Given the description of an element on the screen output the (x, y) to click on. 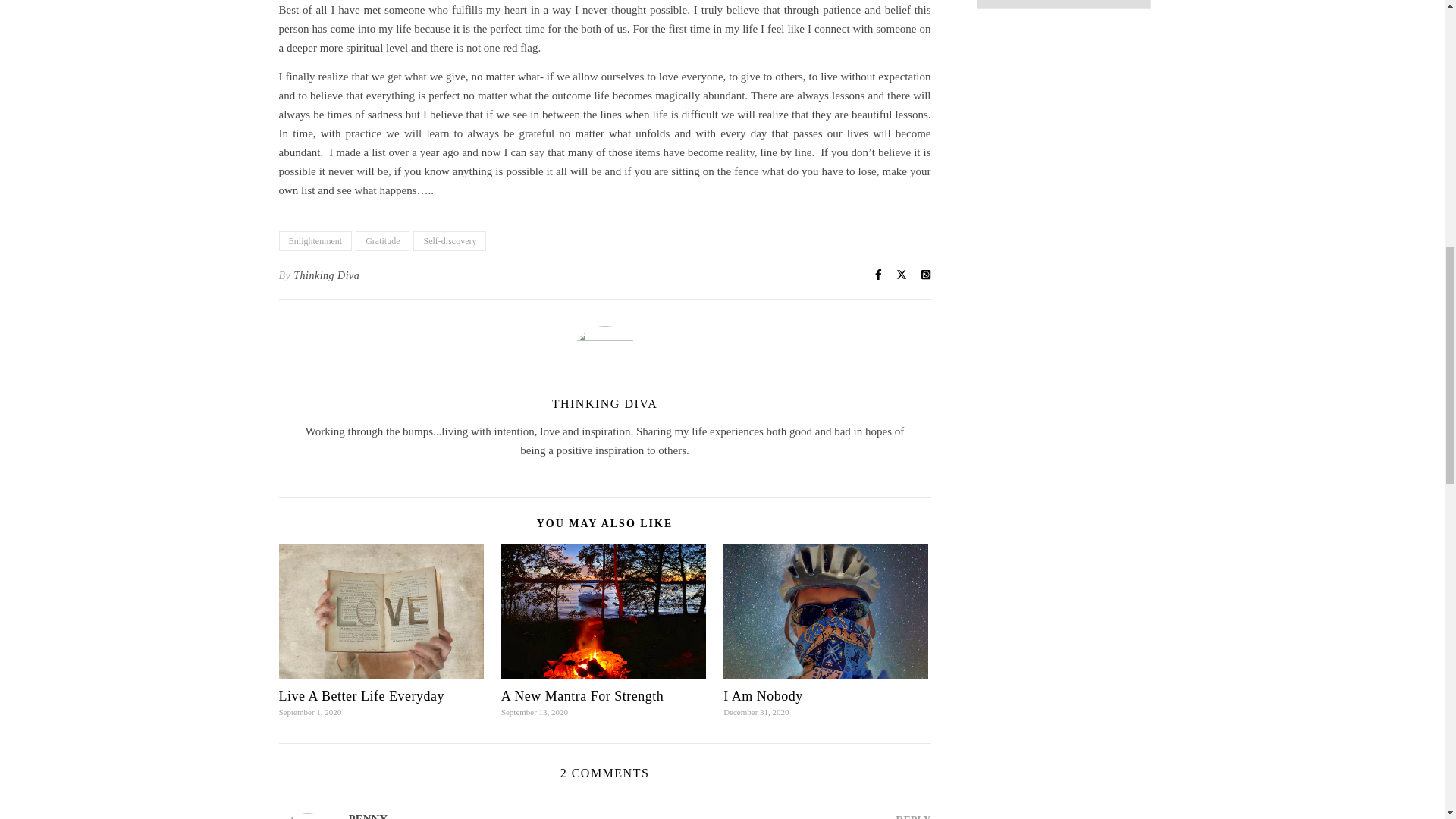
I Am Nobody 3 (825, 610)
A New Mantra For Strength 2 (603, 610)
Posts by Thinking Diva (604, 403)
Subscribe (1063, 4)
Posts by Thinking Diva (326, 274)
Live A Better Life Everyday 1 (381, 610)
